Given the description of an element on the screen output the (x, y) to click on. 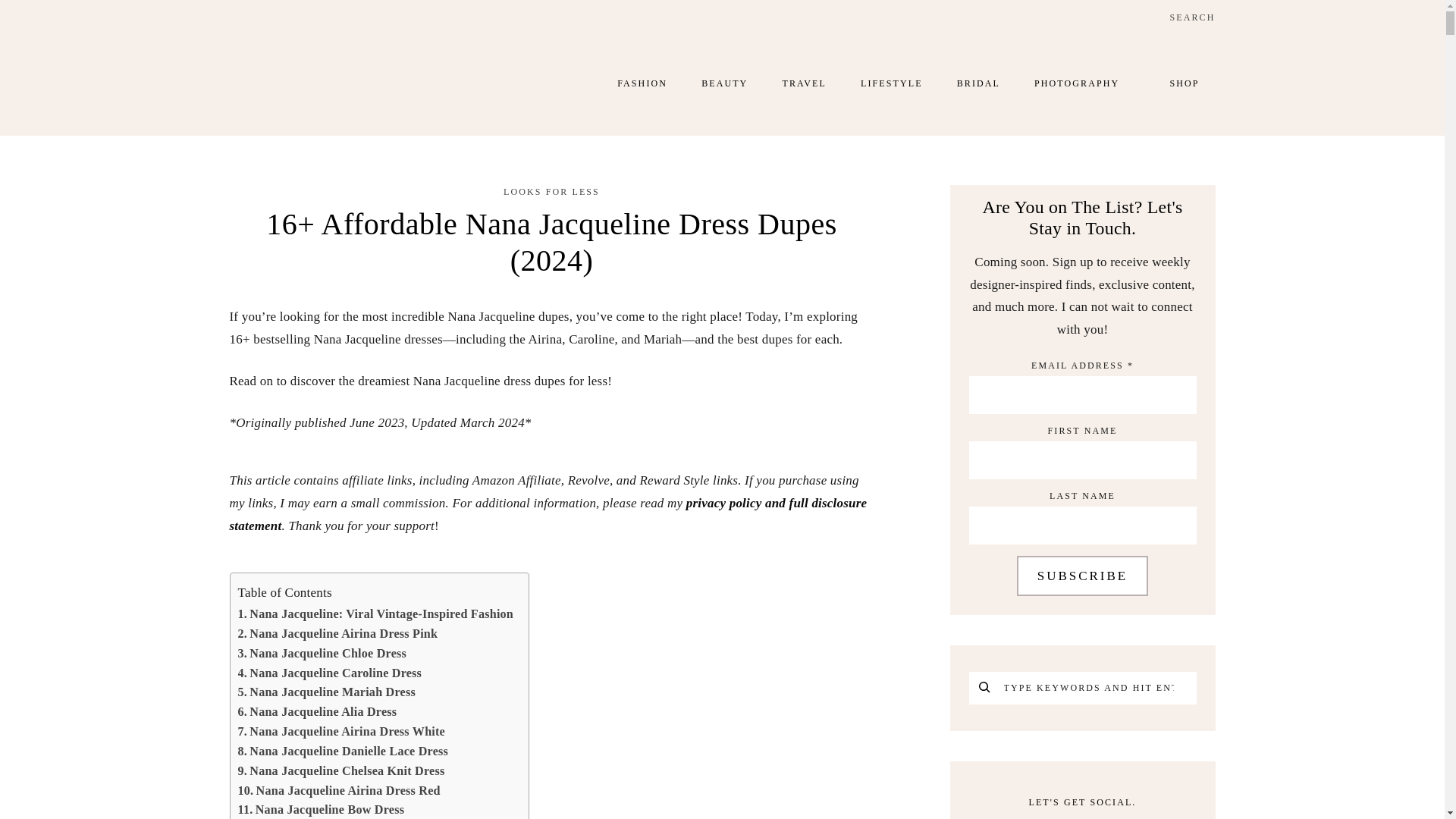
Nana Jacqueline Airina Dress Red (339, 790)
Nana Jacqueline Mariah Dress (326, 691)
Nana Jacqueline Alia Dress (317, 711)
Nana Jacqueline Danielle Lace Dress (343, 751)
Subscribe (1082, 576)
View all posts in Looks For Less (551, 191)
Nana Jacqueline Airina Dress Pink (338, 633)
Nana Jacqueline Bow Dress (321, 809)
Nana Jacqueline Chloe Dress (322, 653)
Nana Jacqueline Airina Dress White (341, 731)
Nana Jacqueline Caroline Dress (330, 673)
Nana Jacqueline Chelsea Knit Dress (341, 771)
